Given the description of an element on the screen output the (x, y) to click on. 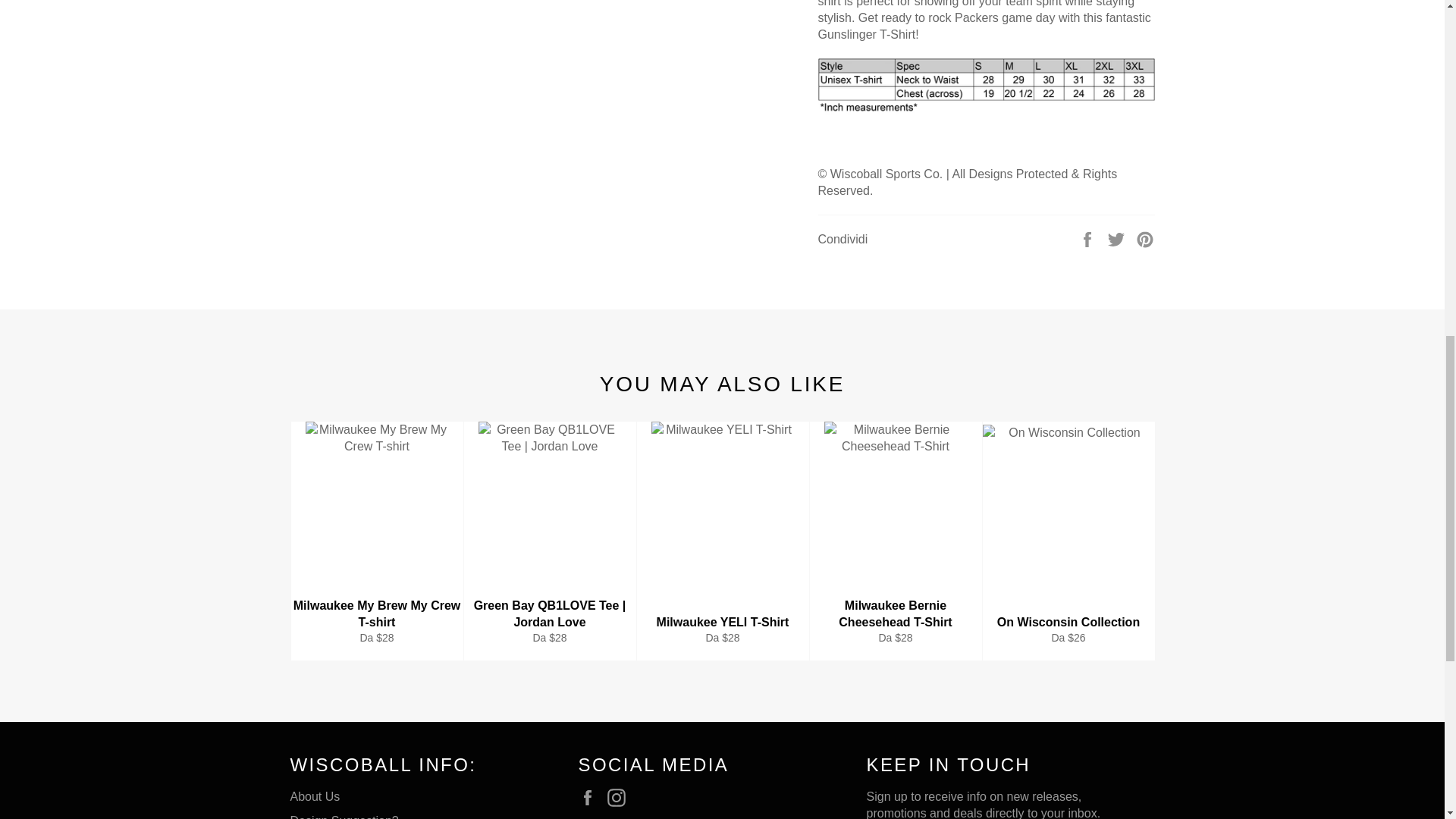
WiscoBall Sports Co su Facebook (591, 797)
Pinna su Pinterest (1144, 237)
Twitta su Twitter (1117, 237)
Condividi su Facebook (1088, 237)
WiscoBall Sports Co su Instagram (620, 797)
